Given the description of an element on the screen output the (x, y) to click on. 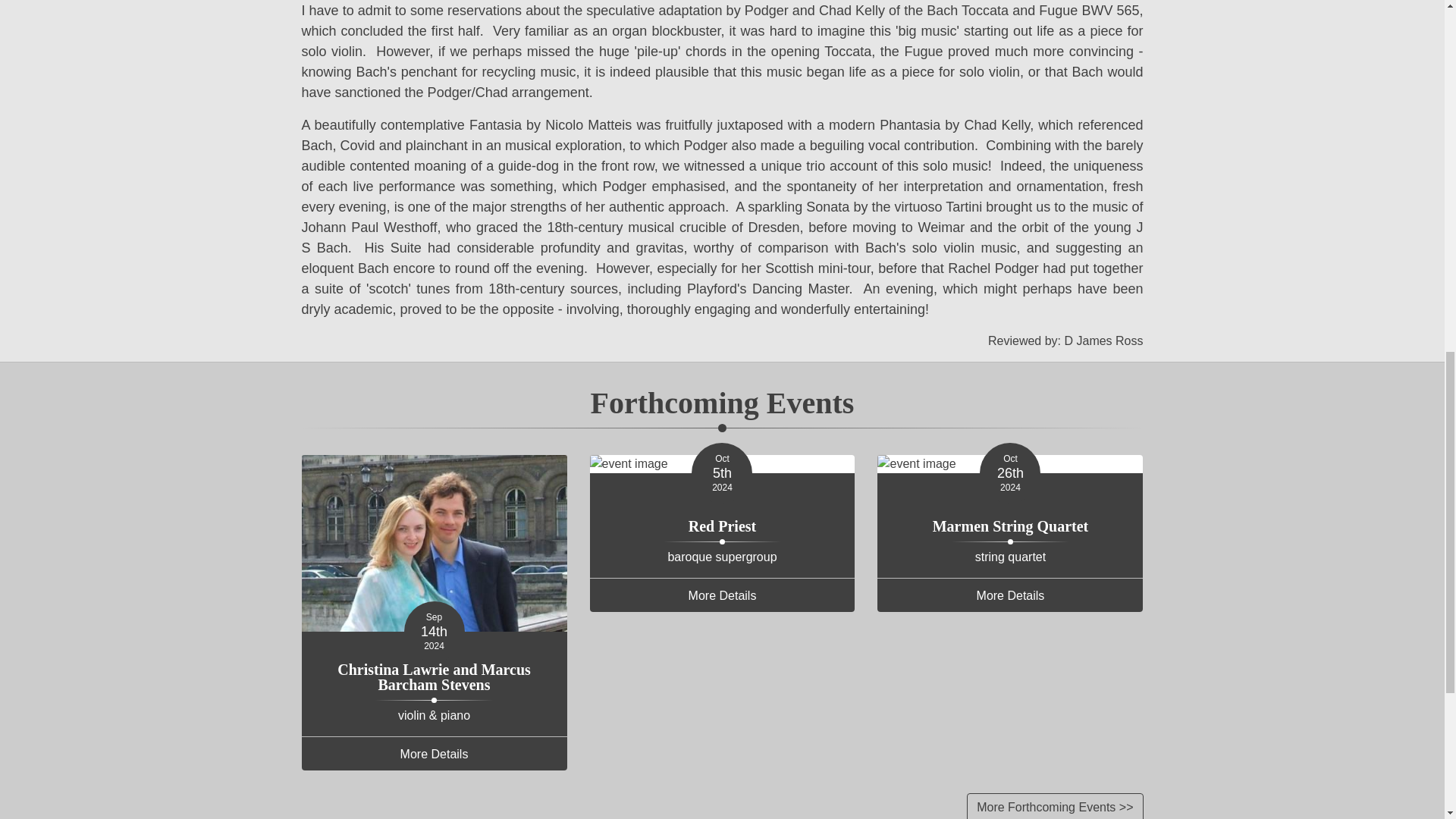
More Details (434, 753)
More Details (722, 594)
More Details (1009, 594)
